Given the description of an element on the screen output the (x, y) to click on. 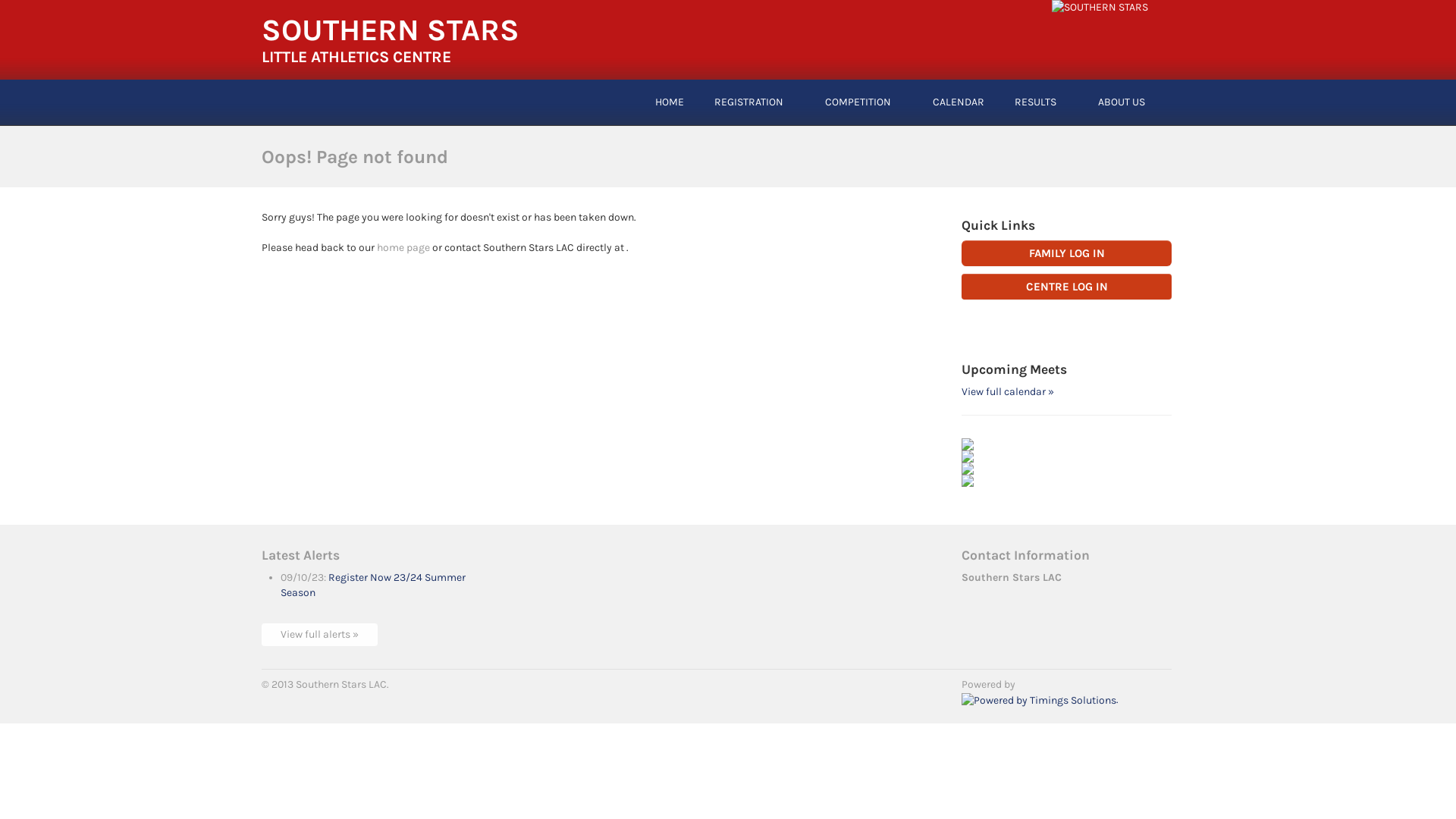
Register Now 23/24 Summer Season Element type: text (372, 585)
home page Element type: text (402, 247)
CALENDAR Element type: text (958, 101)
COMPETITION Element type: text (858, 101)
LITTLE ATHLETICS CENTRE Element type: text (356, 56)
CENTRE LOG IN Element type: text (1066, 286)
Southern Stars Element type: hover (1099, 6)
RESULTS Element type: text (1035, 101)
. Element type: text (1039, 699)
REGISTRATION Element type: text (748, 101)
FAMILY LOG IN Element type: text (1066, 253)
HOME Element type: text (669, 101)
ABOUT US Element type: text (1121, 101)
SOUTHERN STARS Element type: text (390, 29)
